Given the description of an element on the screen output the (x, y) to click on. 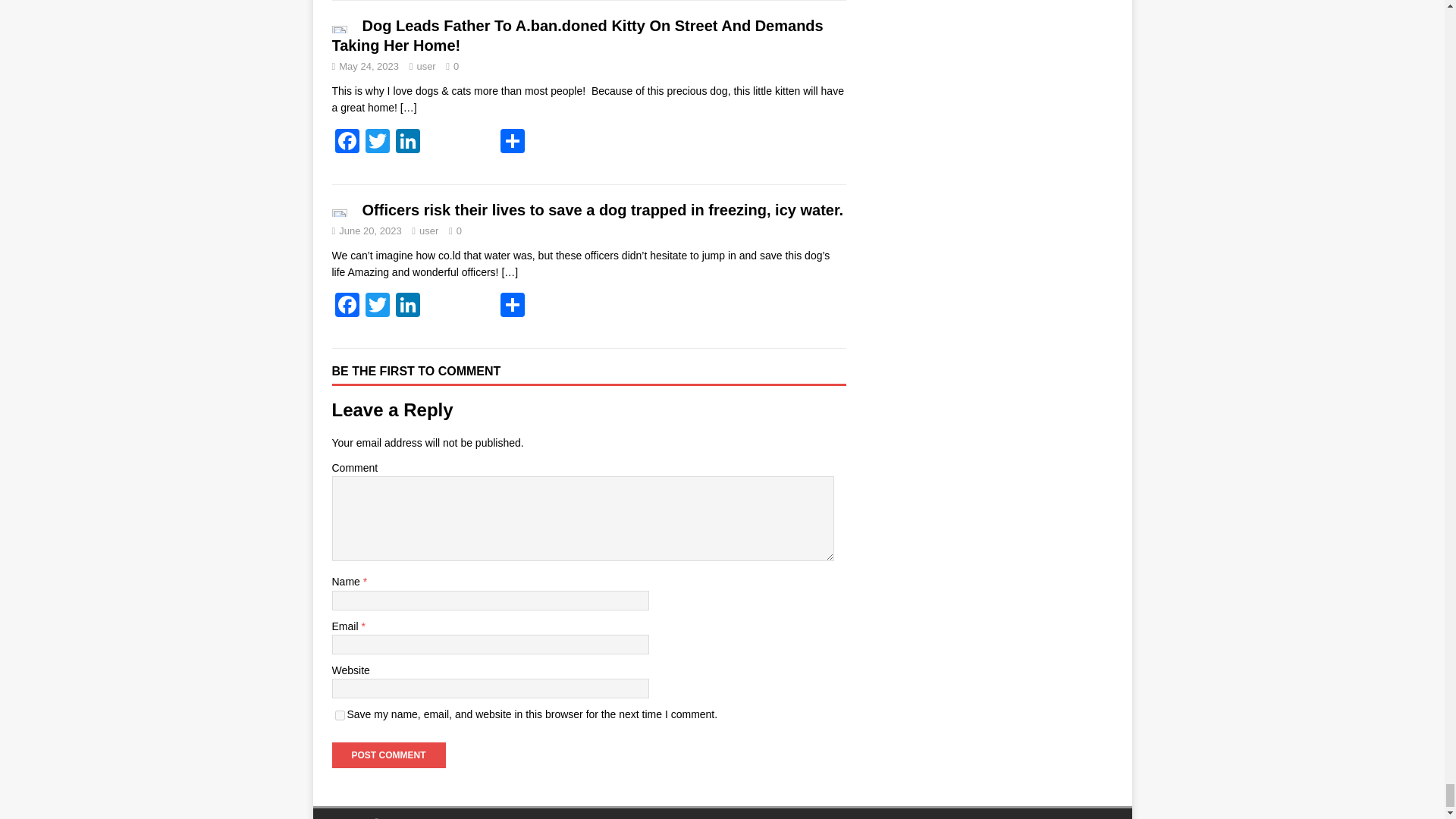
Twitter (377, 306)
Facebook (346, 306)
yes (339, 715)
LinkedIn (408, 142)
Twitter (377, 142)
Facebook (346, 142)
Post Comment (388, 755)
